Given the description of an element on the screen output the (x, y) to click on. 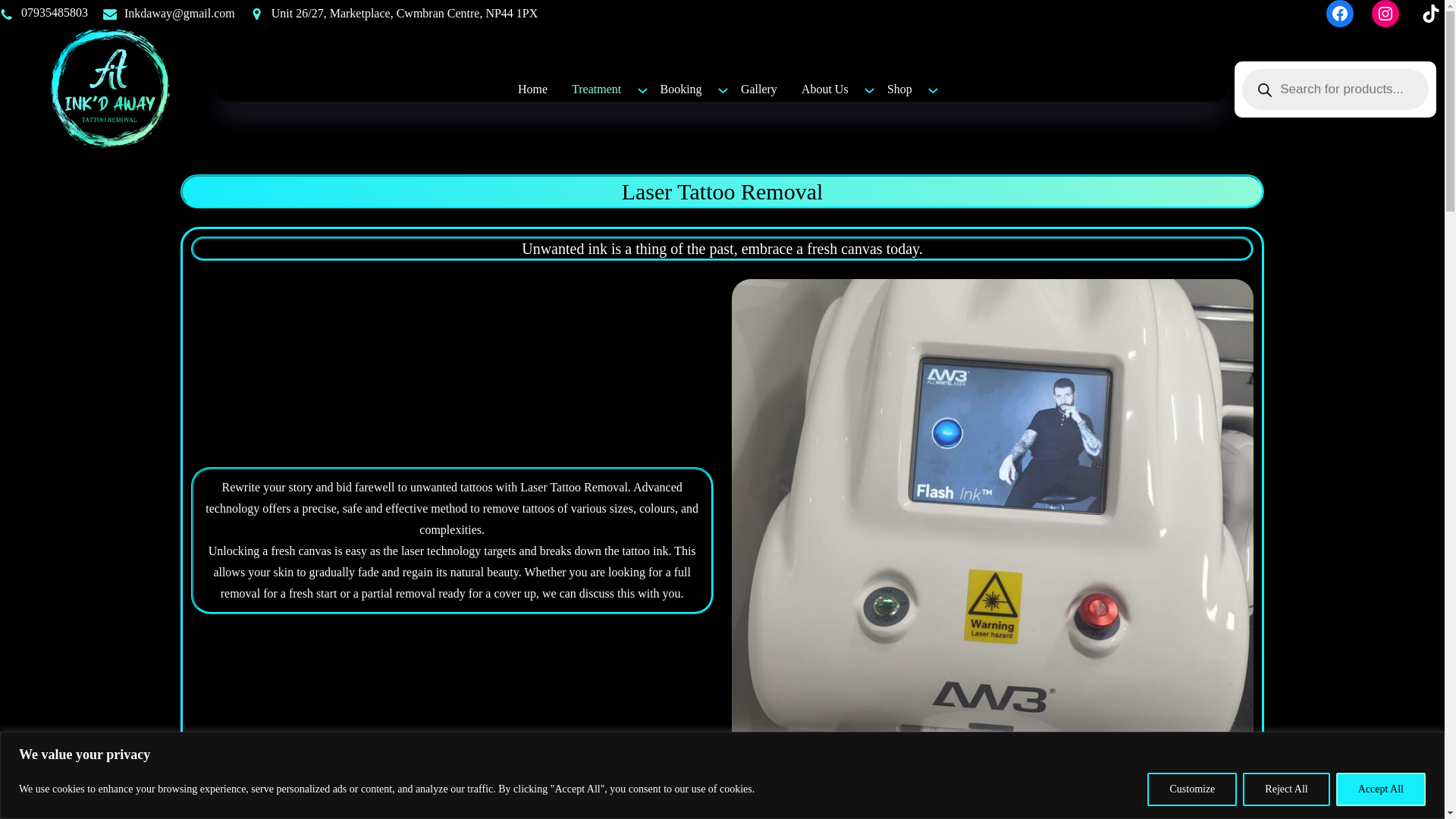
About Us (824, 88)
Home (532, 88)
Facebook (1340, 13)
Accept All (1380, 788)
Instagram (1385, 13)
Customize (1191, 788)
Shop (899, 88)
Gallery (759, 88)
Booking (680, 88)
Treatment (596, 88)
Reject All (1286, 788)
